Given the description of an element on the screen output the (x, y) to click on. 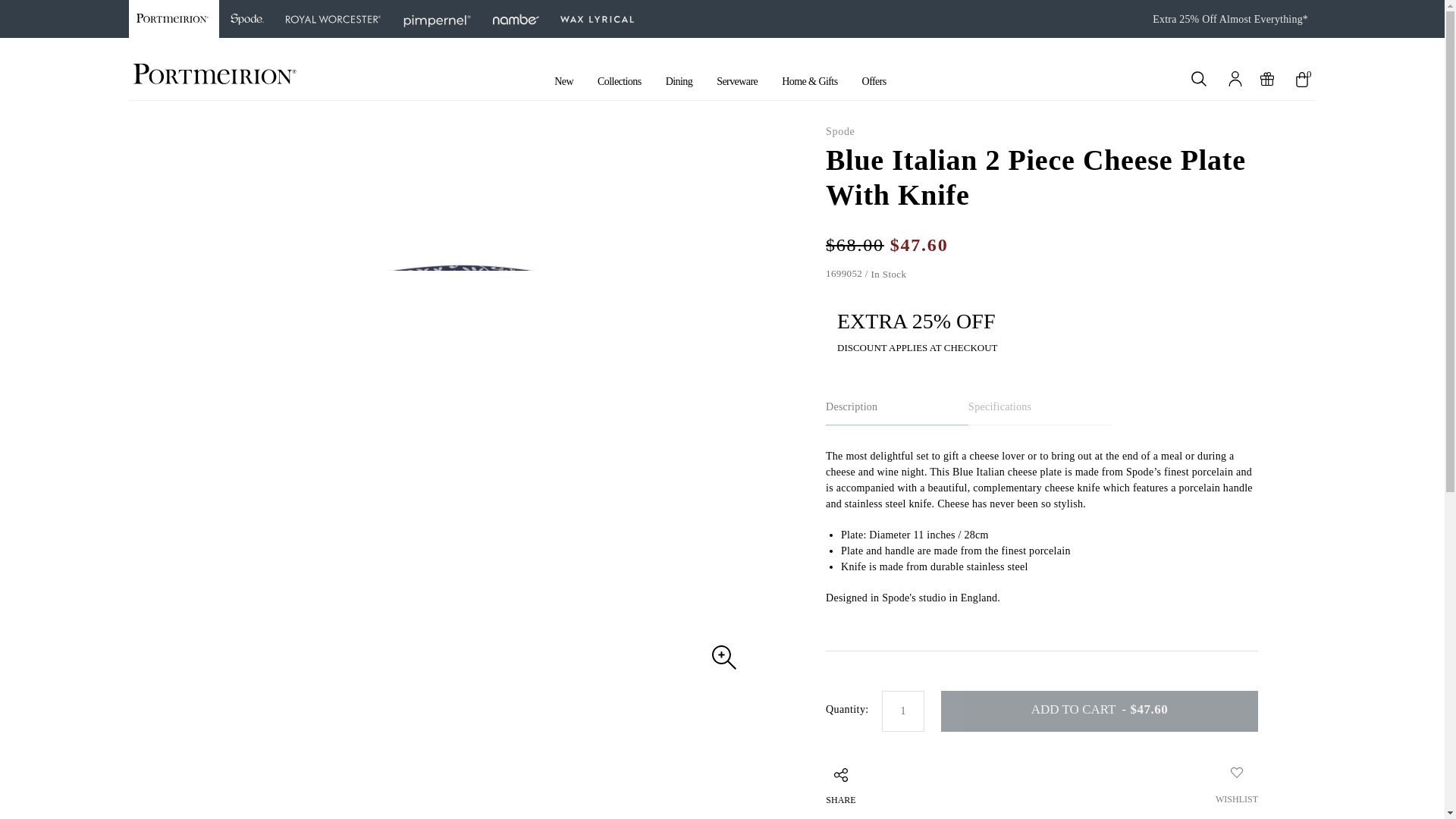
Collections (619, 81)
New (563, 81)
Wax Lyrical (597, 18)
Portmeirion Home (215, 73)
Spode (247, 18)
Pimpernel (436, 18)
Portmeirion (174, 18)
Royal Worcester (333, 18)
